Given the description of an element on the screen output the (x, y) to click on. 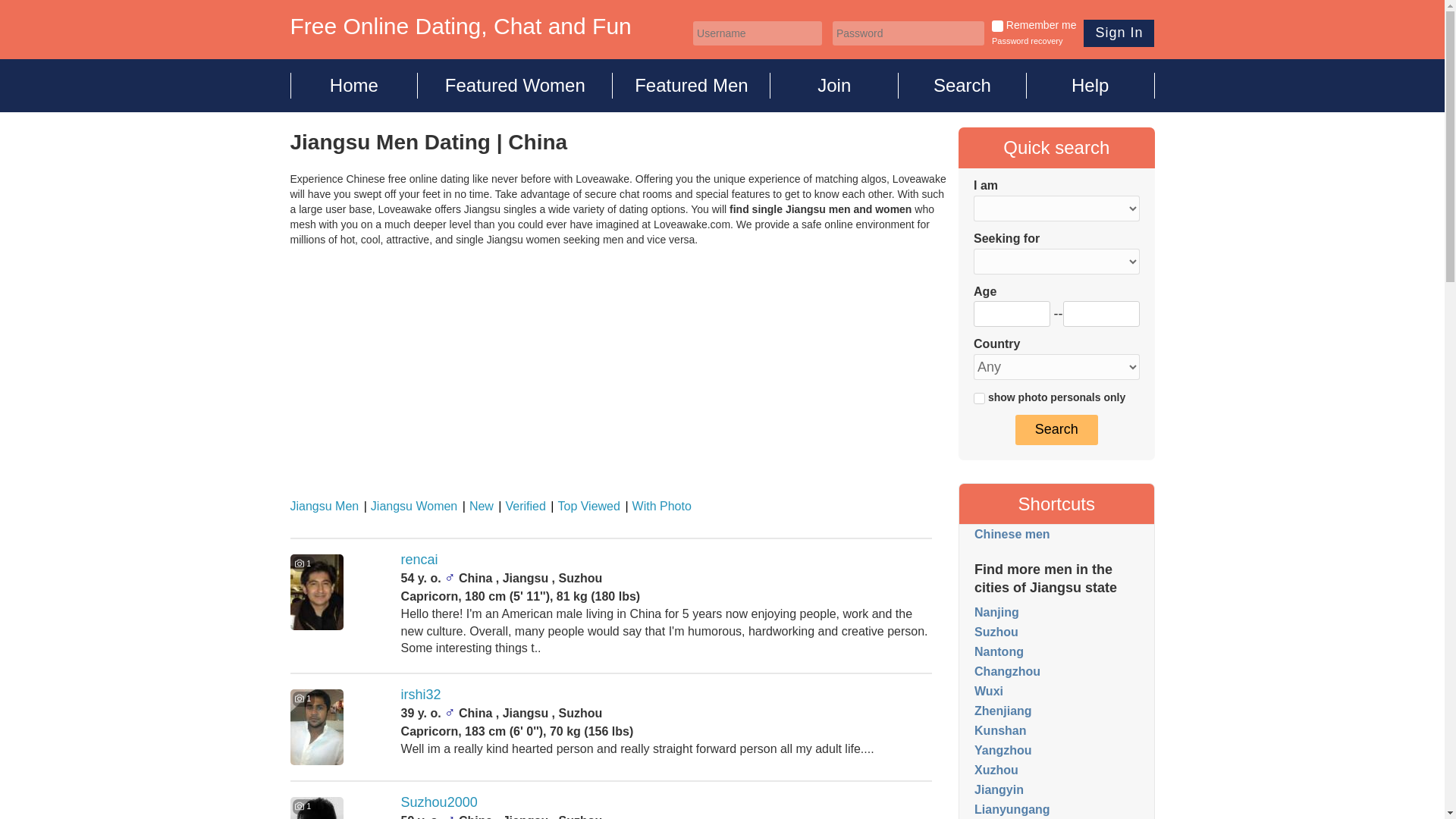
Featured Men (691, 85)
Join (834, 85)
Help (1090, 85)
Jiangsu Men (323, 505)
New (477, 505)
Top Viewed (584, 505)
Home (353, 85)
rencai (419, 559)
Suzhou2000 (439, 801)
Verified (521, 505)
